Given the description of an element on the screen output the (x, y) to click on. 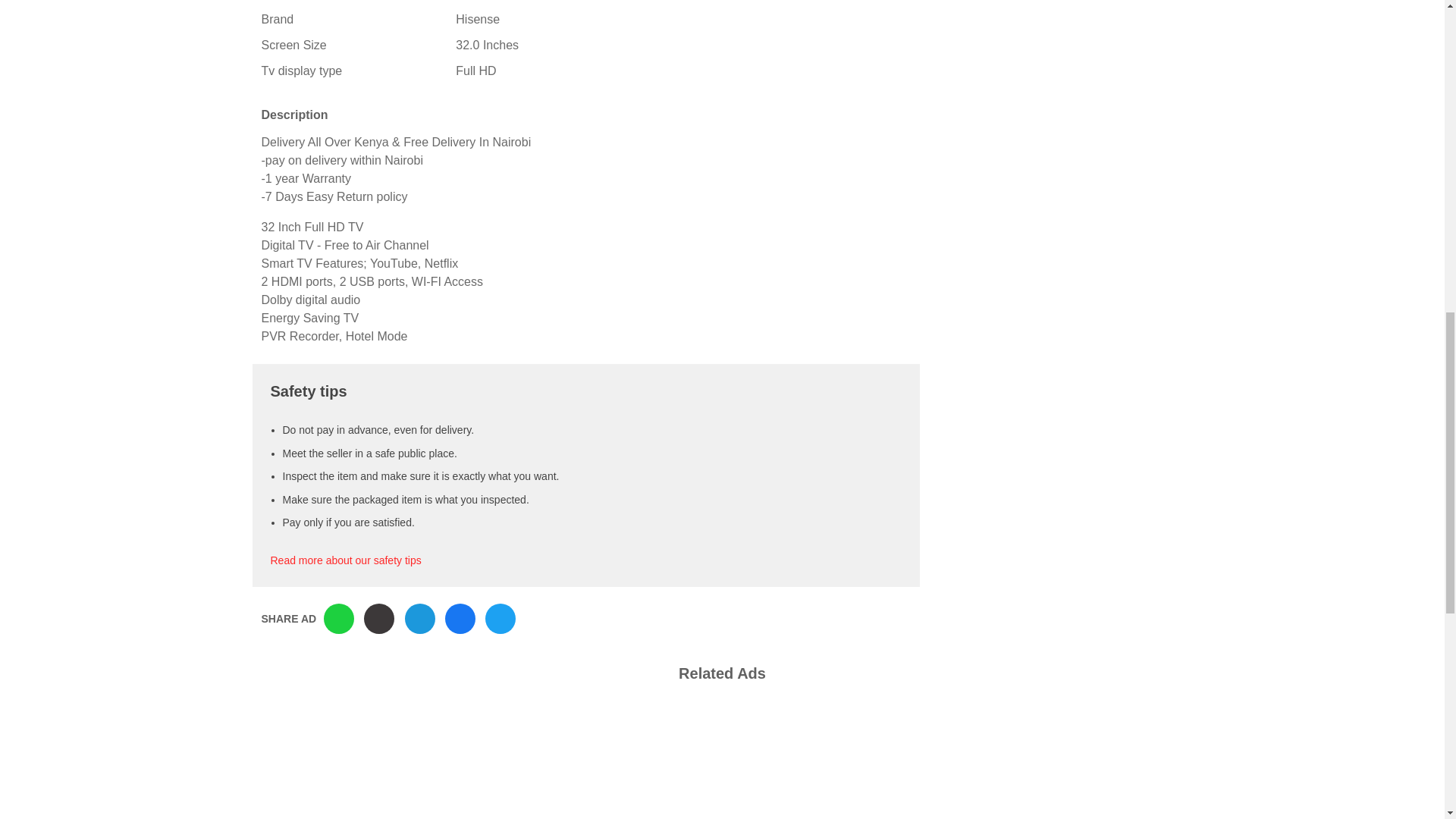
Share via WhatsApp (338, 618)
Share via Facebook (460, 618)
Copy link (379, 618)
Share via Twitter (499, 618)
Read more about our safety tips (344, 560)
Share via Email (419, 618)
